Given the description of an element on the screen output the (x, y) to click on. 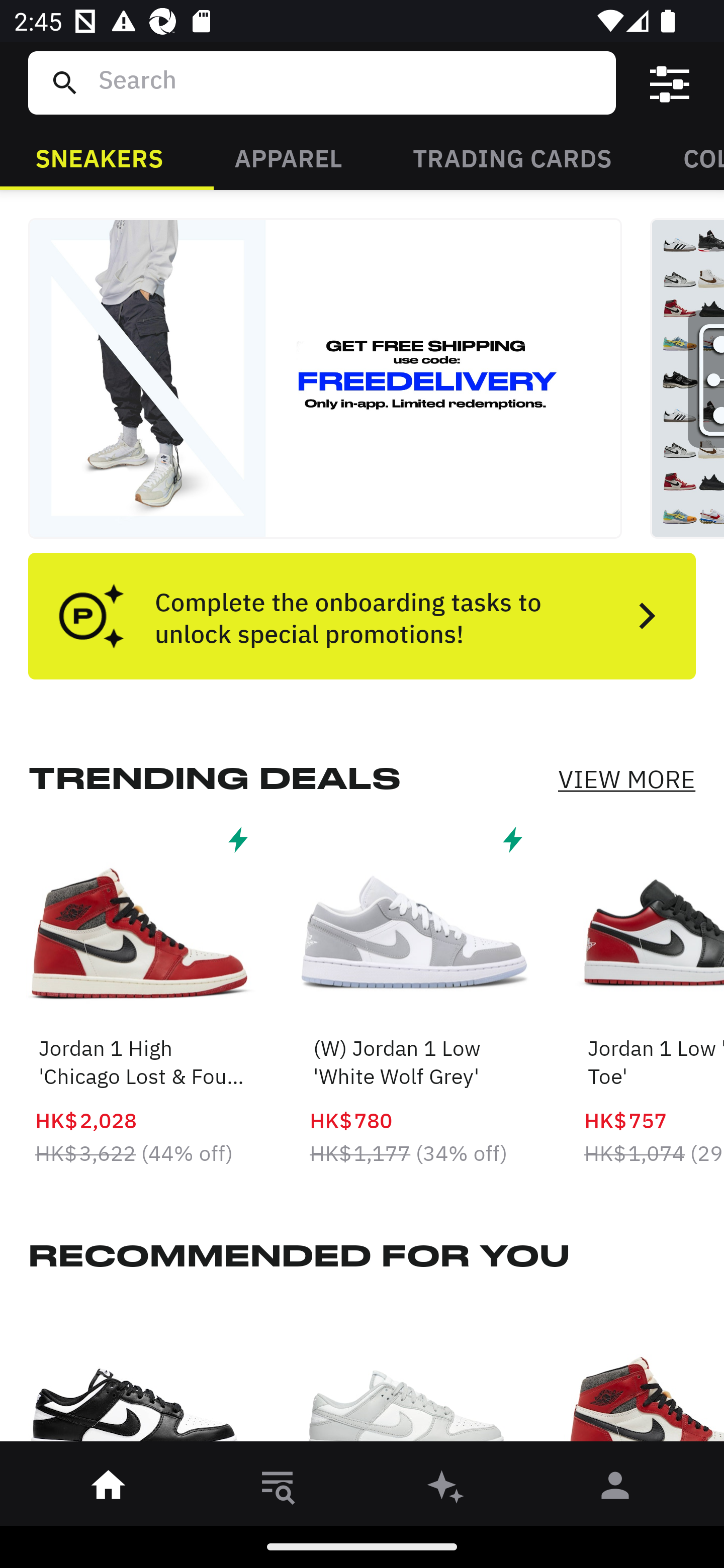
Search (349, 82)
 (669, 82)
SNEAKERS (99, 156)
APPAREL (287, 156)
TRADING CARDS (512, 156)
VIEW MORE (626, 779)
󰋜 (108, 1488)
󱎸 (277, 1488)
󰫢 (446, 1488)
󰀄 (615, 1488)
